Given the description of an element on the screen output the (x, y) to click on. 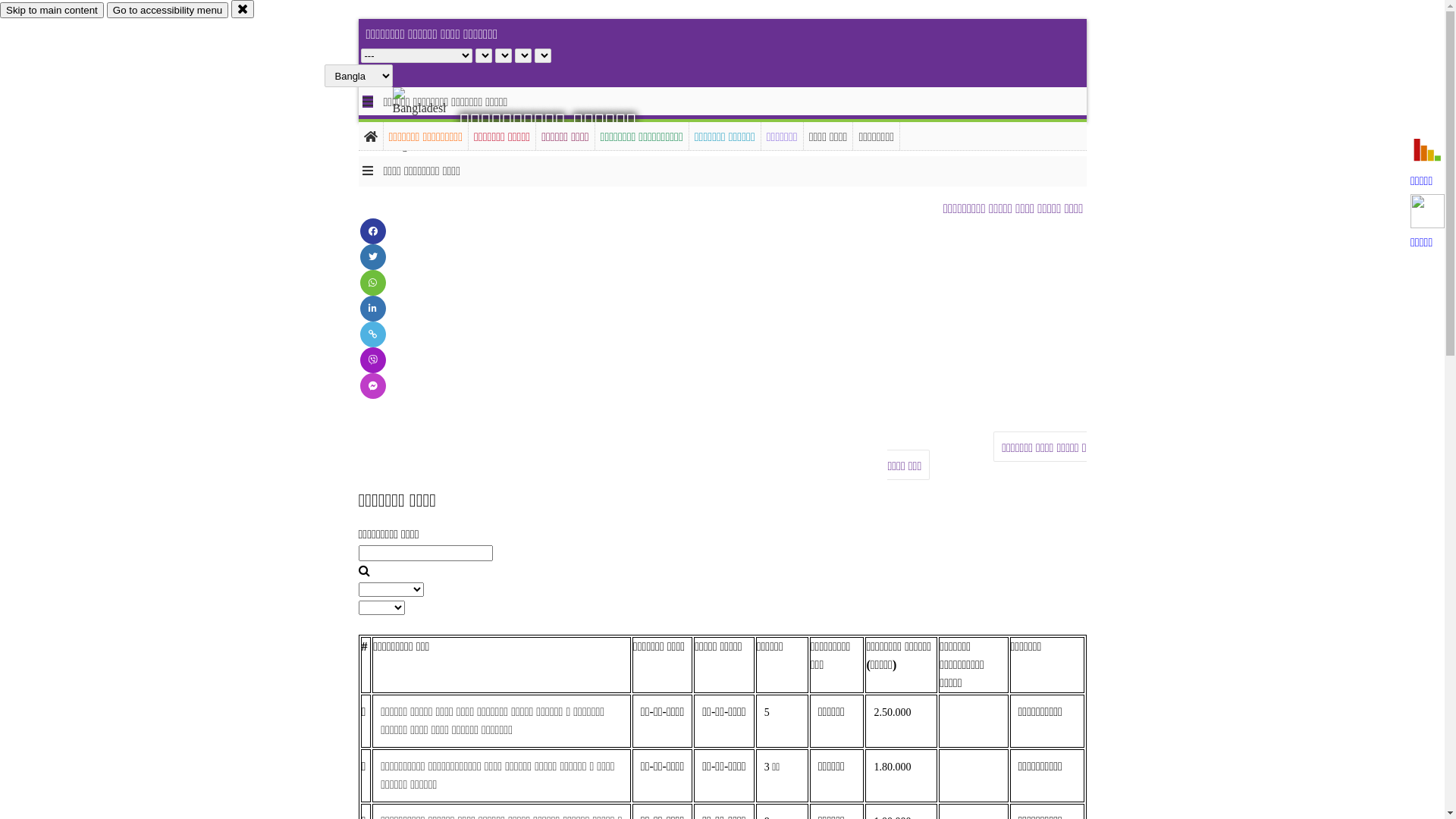
Go to accessibility menu Element type: text (167, 10)

                
             Element type: hover (431, 120)
close Element type: hover (242, 9)
Skip to main content Element type: text (51, 10)
